Given the description of an element on the screen output the (x, y) to click on. 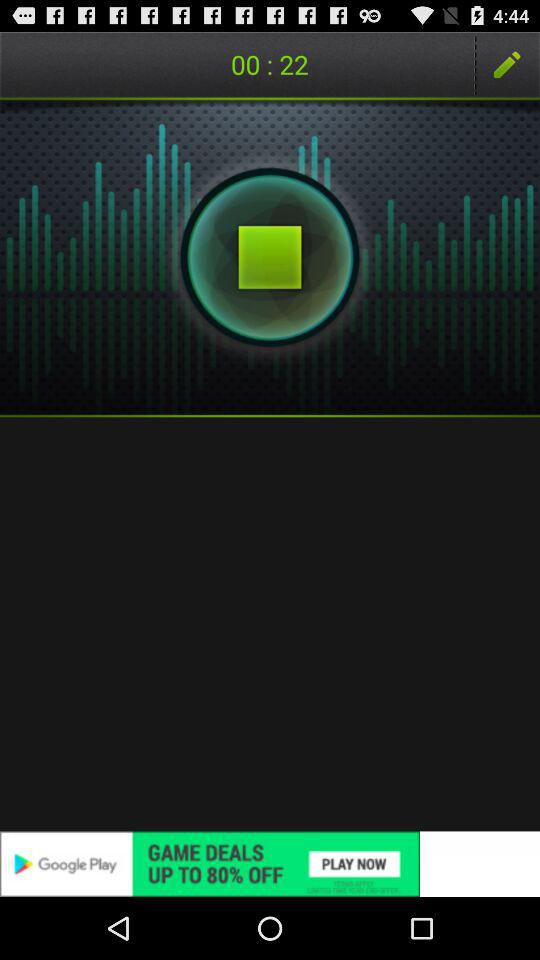
select the item at the center (270, 623)
